Given the description of an element on the screen output the (x, y) to click on. 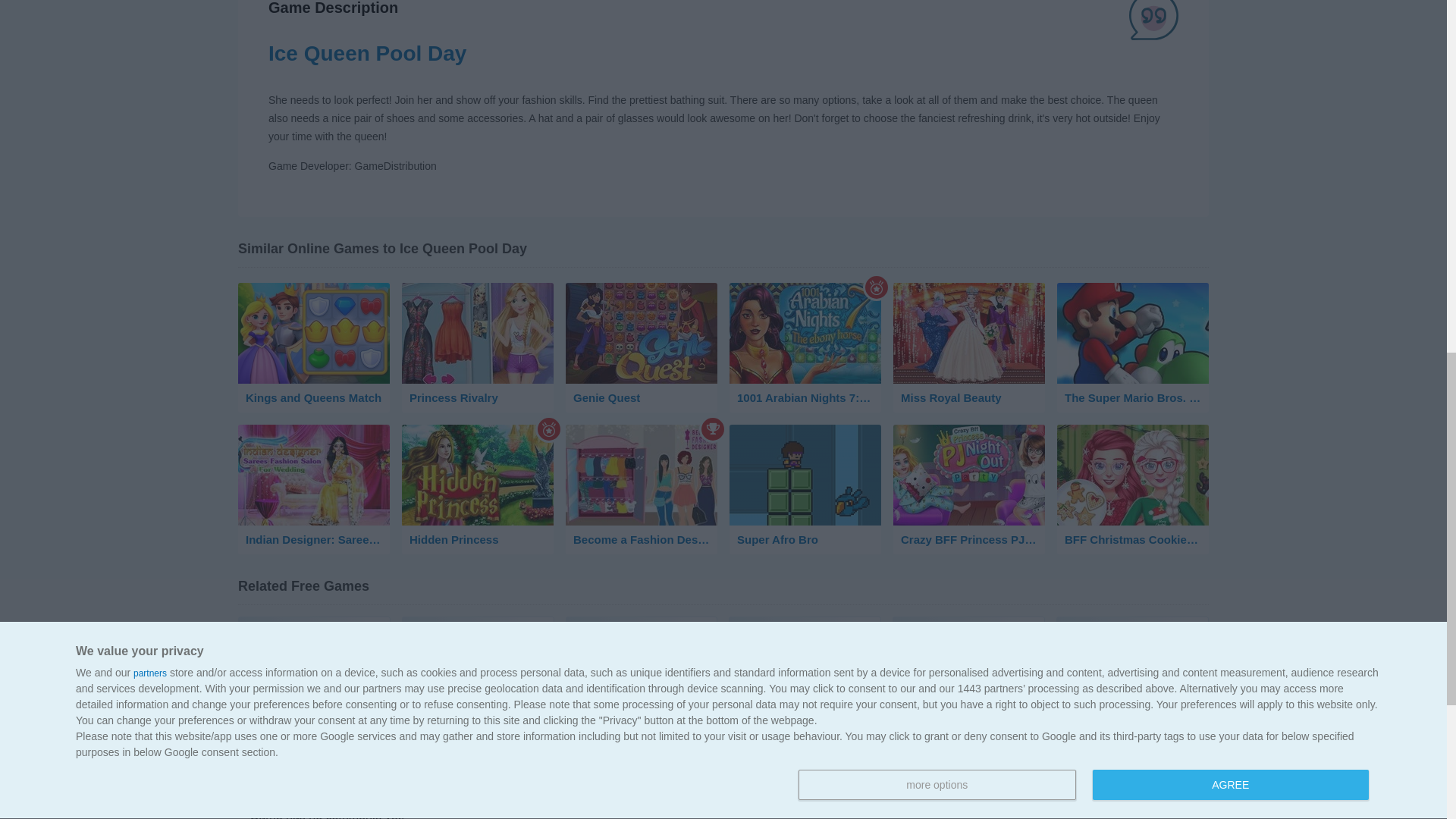
Ice Games (804, 642)
Princess Games (641, 642)
Miss Royal Beauty (969, 347)
The Super Mario Bros. Movie (1132, 347)
1001 Arabian Nights 7: The Ebony Horse (804, 347)
Girl Games (477, 642)
Summer Games (1132, 642)
Princess Rivalry (477, 347)
Princess Dressing Games (314, 711)
Fashion Games (314, 642)
Queen Games (968, 642)
Kings and Queens Match (314, 347)
Genie Quest (641, 347)
Indian Designer: Sarees Fashion Salon for Wedding (314, 489)
